Given the description of an element on the screen output the (x, y) to click on. 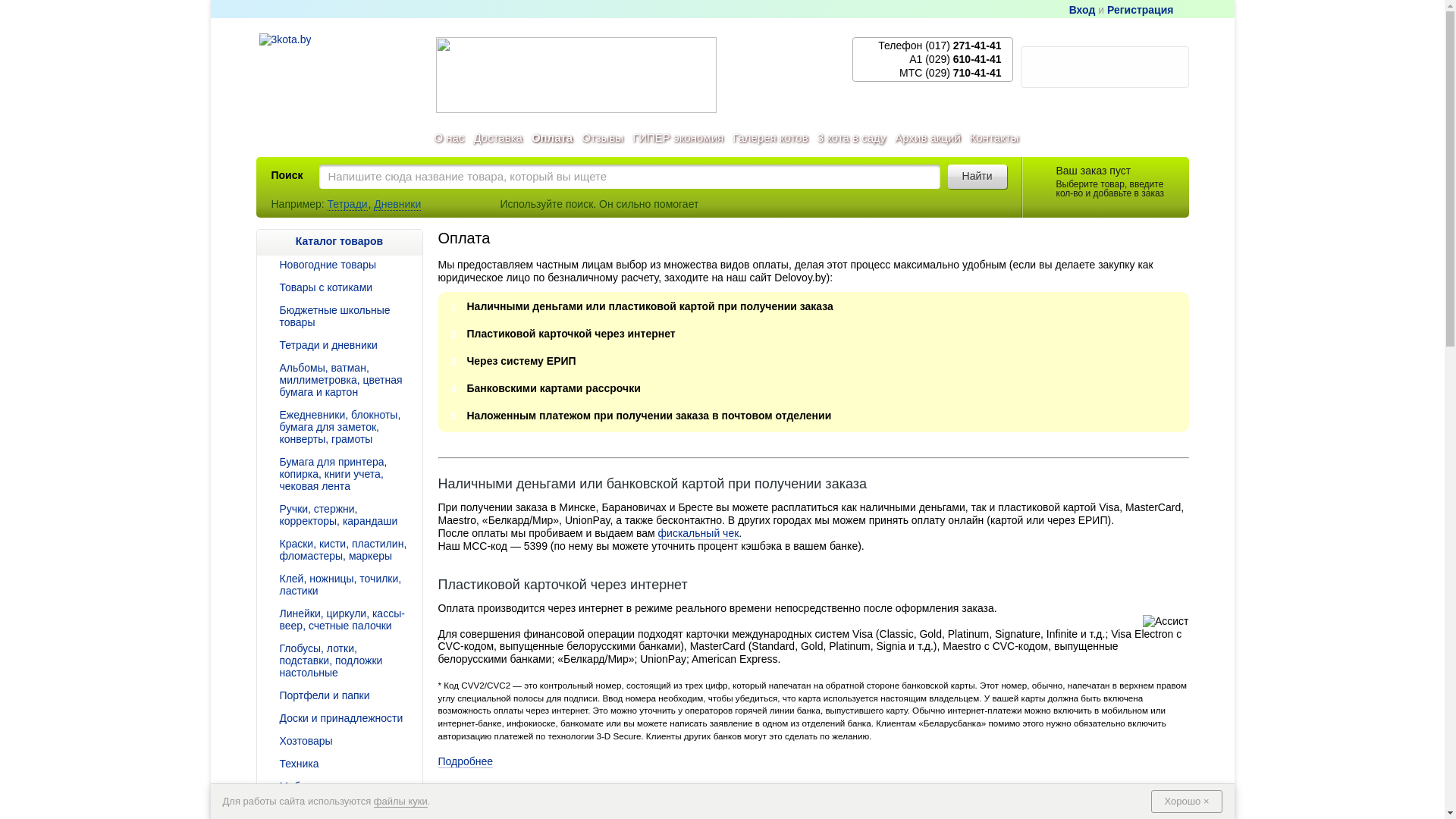
3kota.by Element type: hover (341, 72)
